Given the description of an element on the screen output the (x, y) to click on. 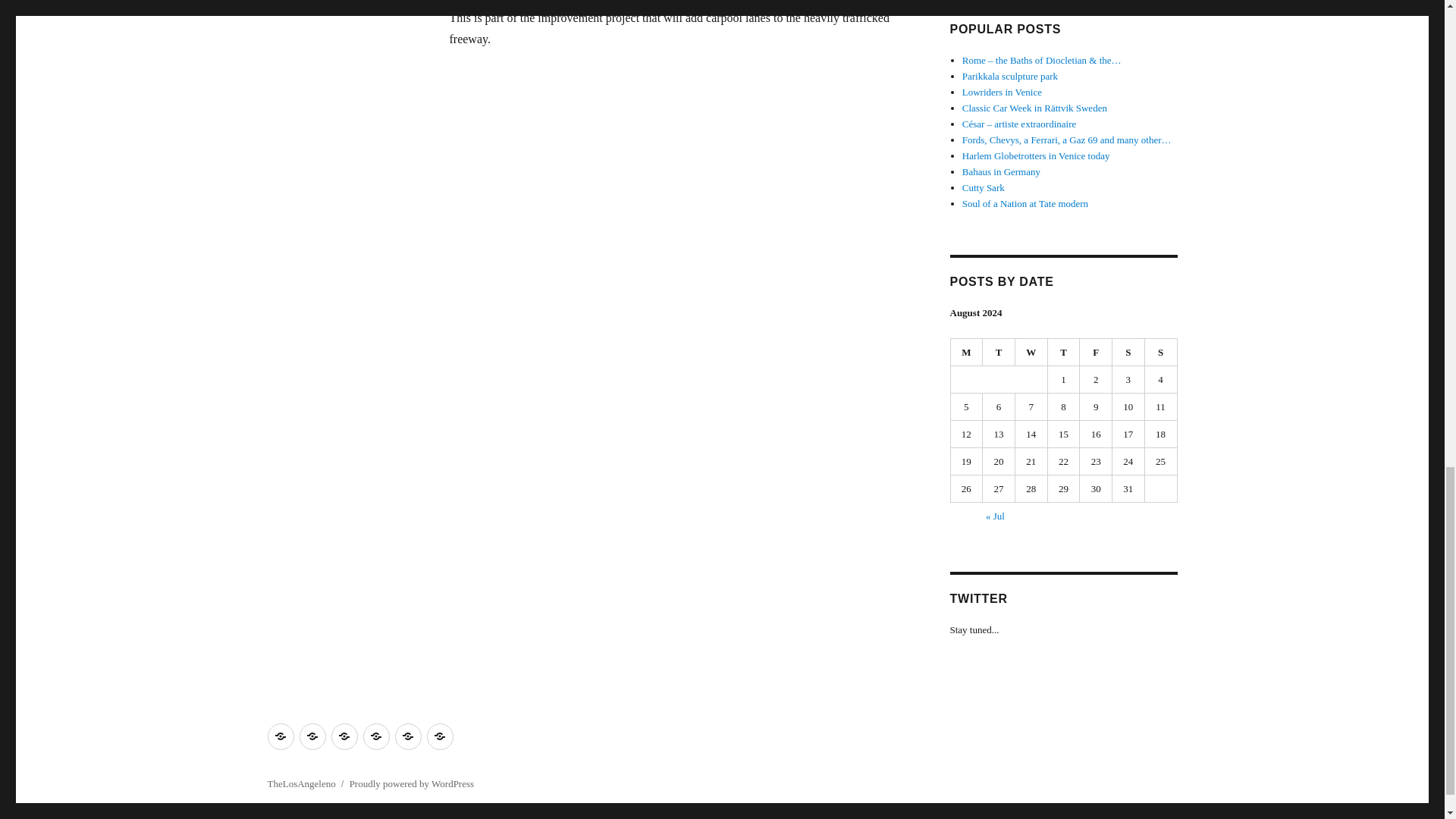
Cutty Sark (983, 187)
Lowriders in Venice (1002, 91)
Monday (967, 352)
Soul of a Nation at Tate modern (1024, 203)
Saturday (1128, 352)
Wednesday (1031, 352)
Parikkala sculpture park (1010, 75)
Friday (1096, 352)
Harlem Globetrotters in Venice today (1035, 155)
Thursday (1064, 352)
Tuesday (998, 352)
Bahaus in Germany (1001, 171)
Sunday (1160, 352)
